Given the description of an element on the screen output the (x, y) to click on. 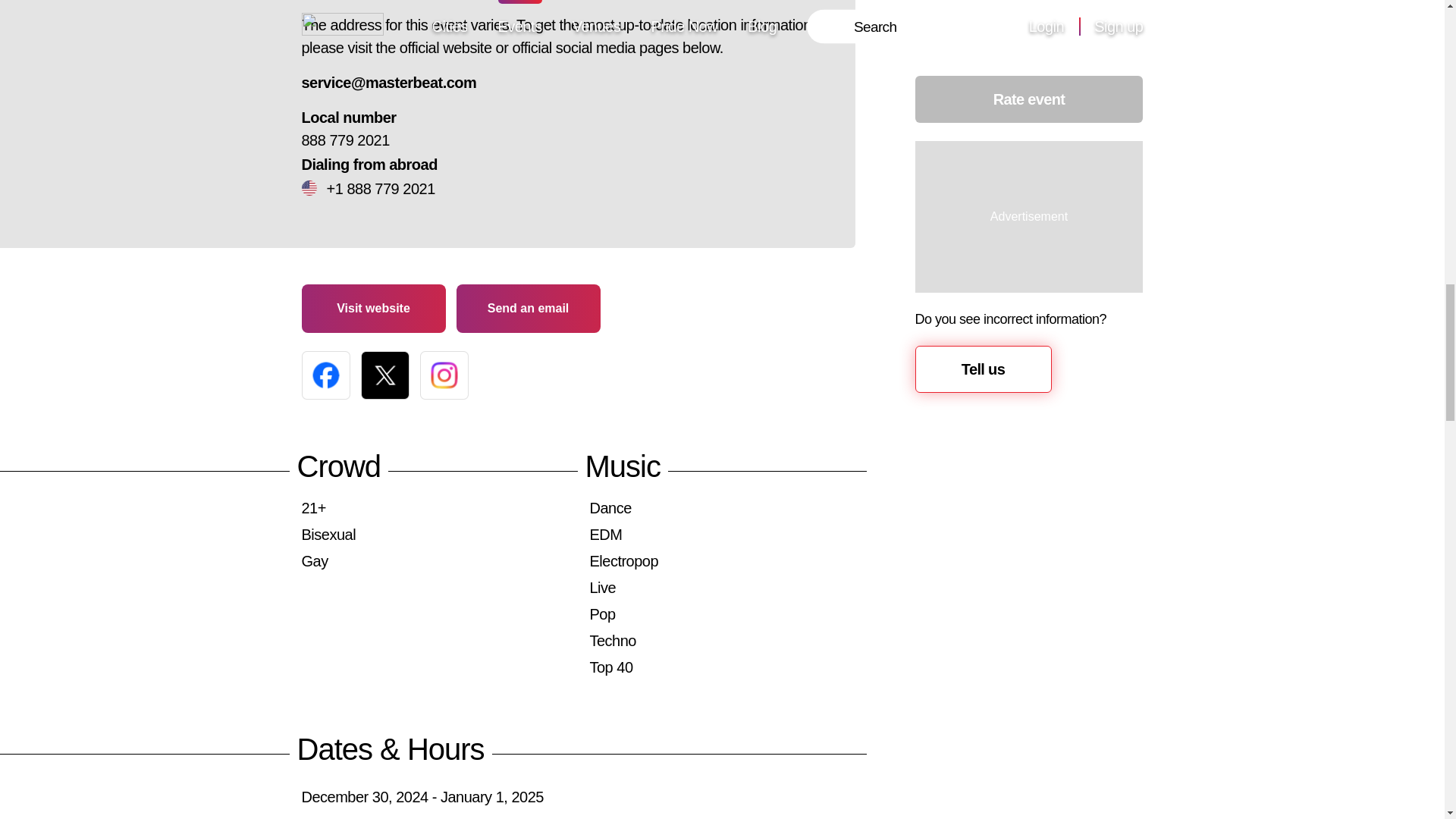
Visit website (373, 308)
Send an email (528, 308)
